Given the description of an element on the screen output the (x, y) to click on. 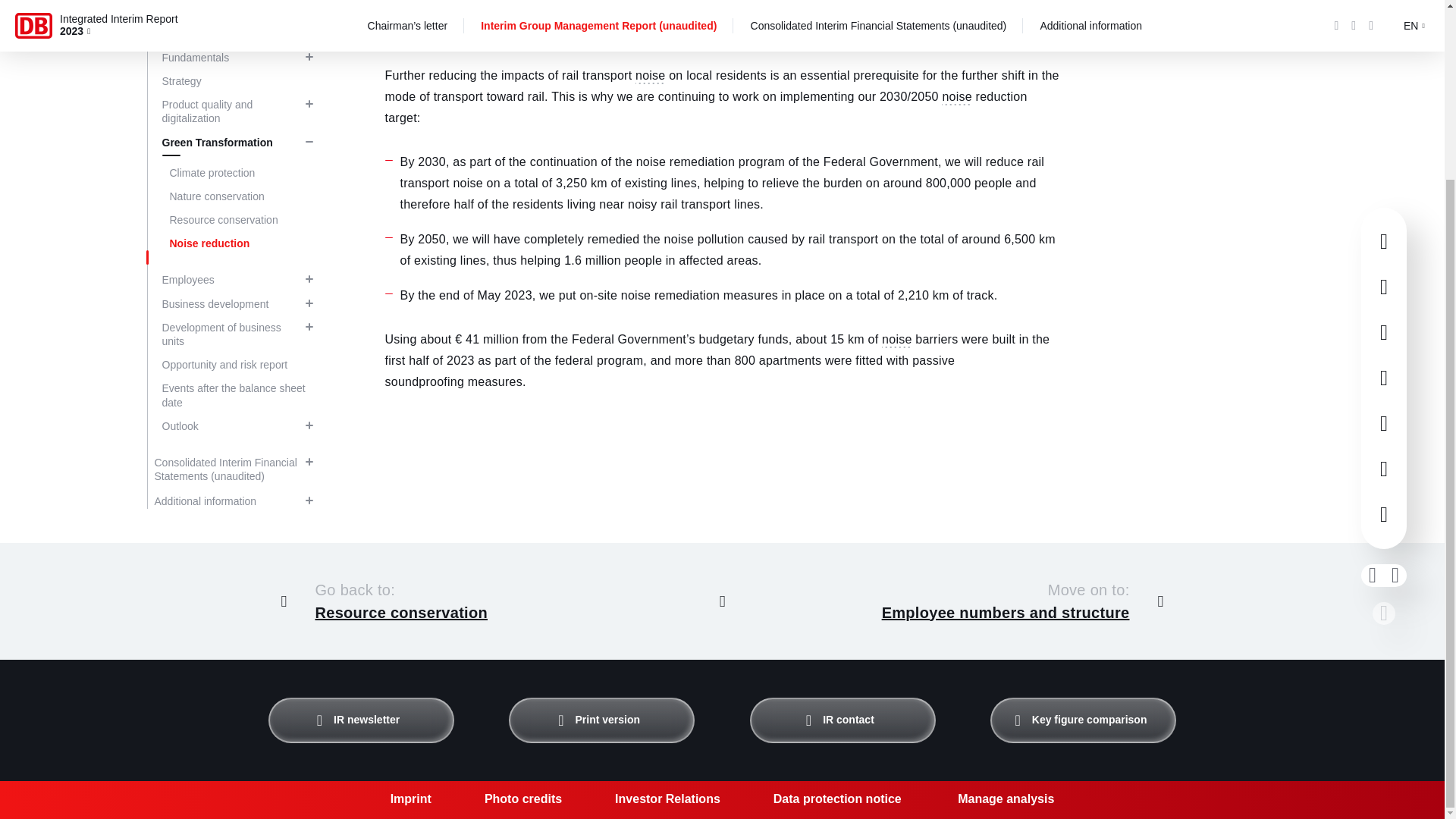
scroll up (1383, 393)
next (1395, 354)
previous (1372, 354)
Scroll up (722, 601)
